Given the description of an element on the screen output the (x, y) to click on. 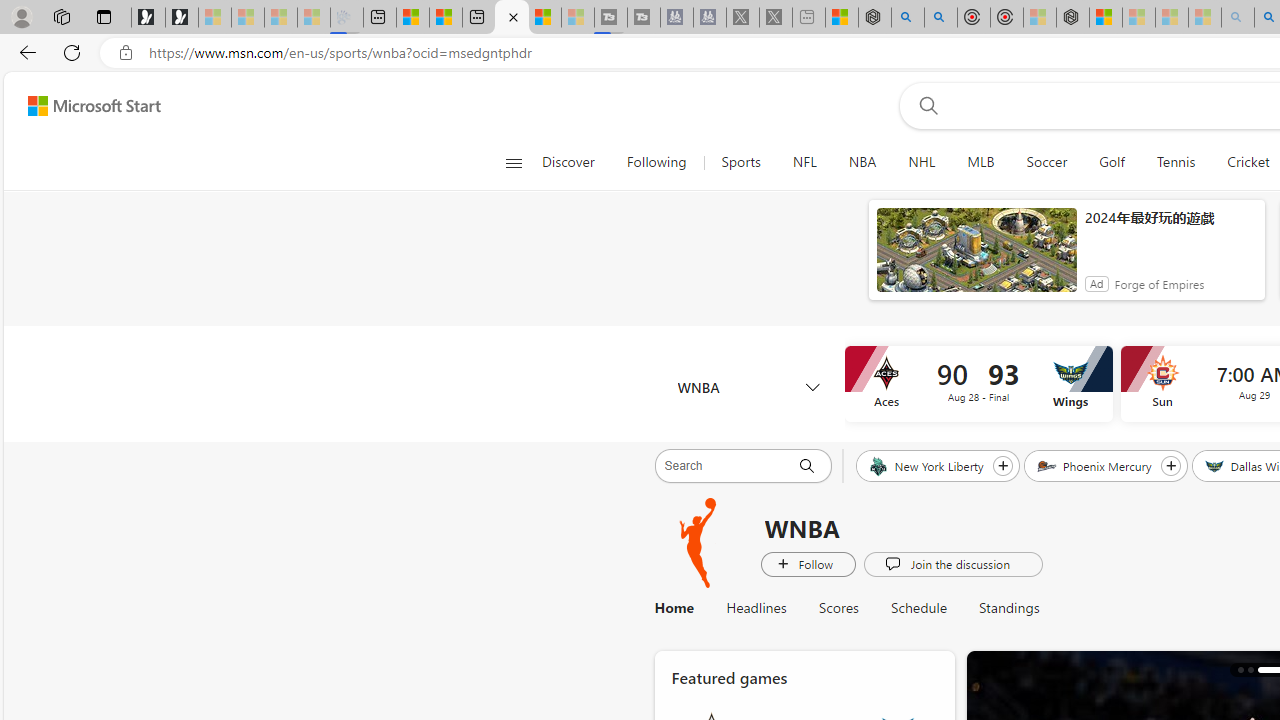
NHL (921, 162)
NFL (804, 162)
NBA (862, 162)
Forge of Empires (1158, 283)
Sports (740, 162)
Schedule (919, 607)
